Given the description of an element on the screen output the (x, y) to click on. 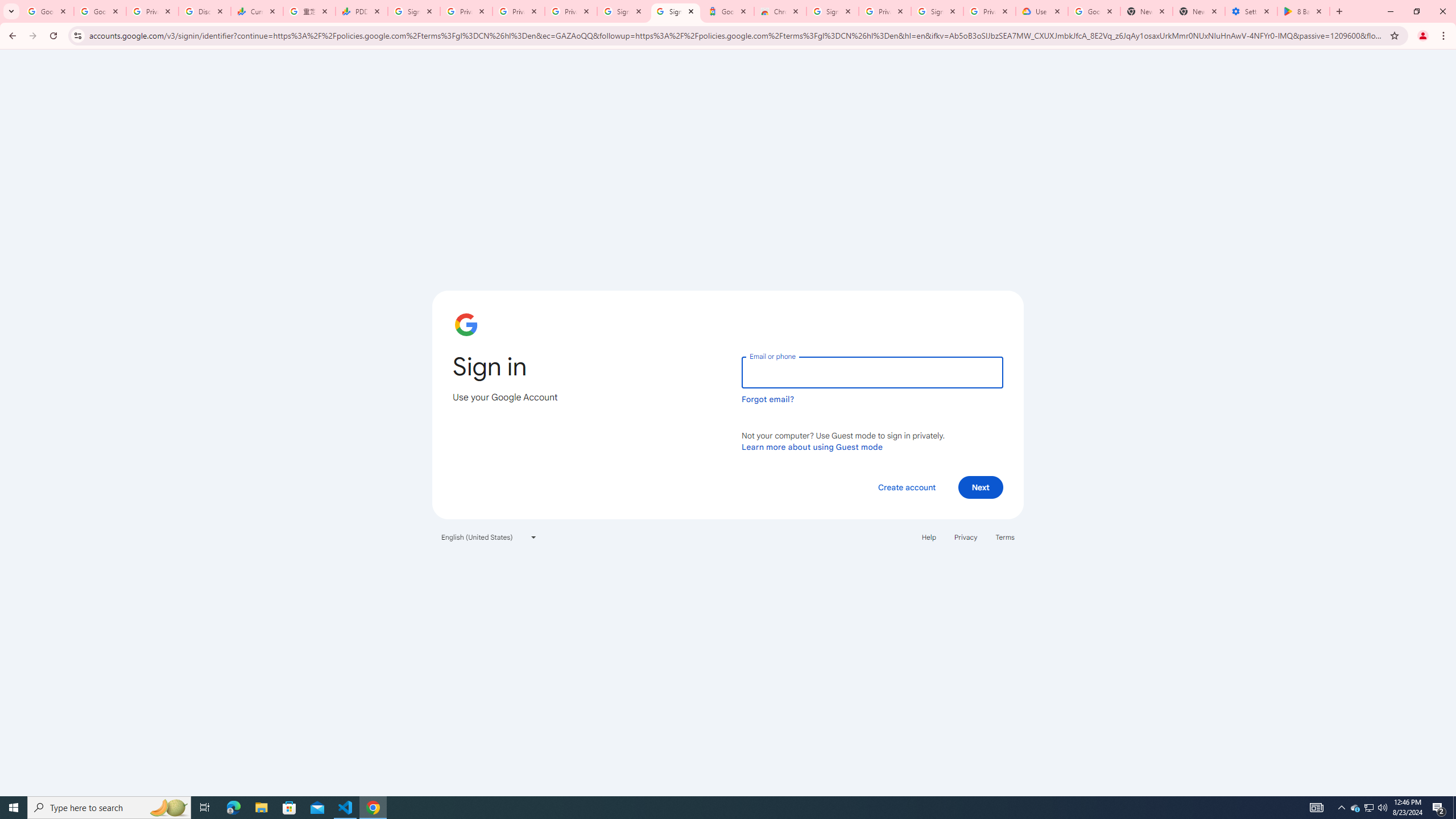
New Tab (1198, 11)
Create account (905, 486)
Currencies - Google Finance (256, 11)
Google Workspace Admin Community (47, 11)
English (United States) (489, 536)
Sign in - Google Accounts (831, 11)
